Given the description of an element on the screen output the (x, y) to click on. 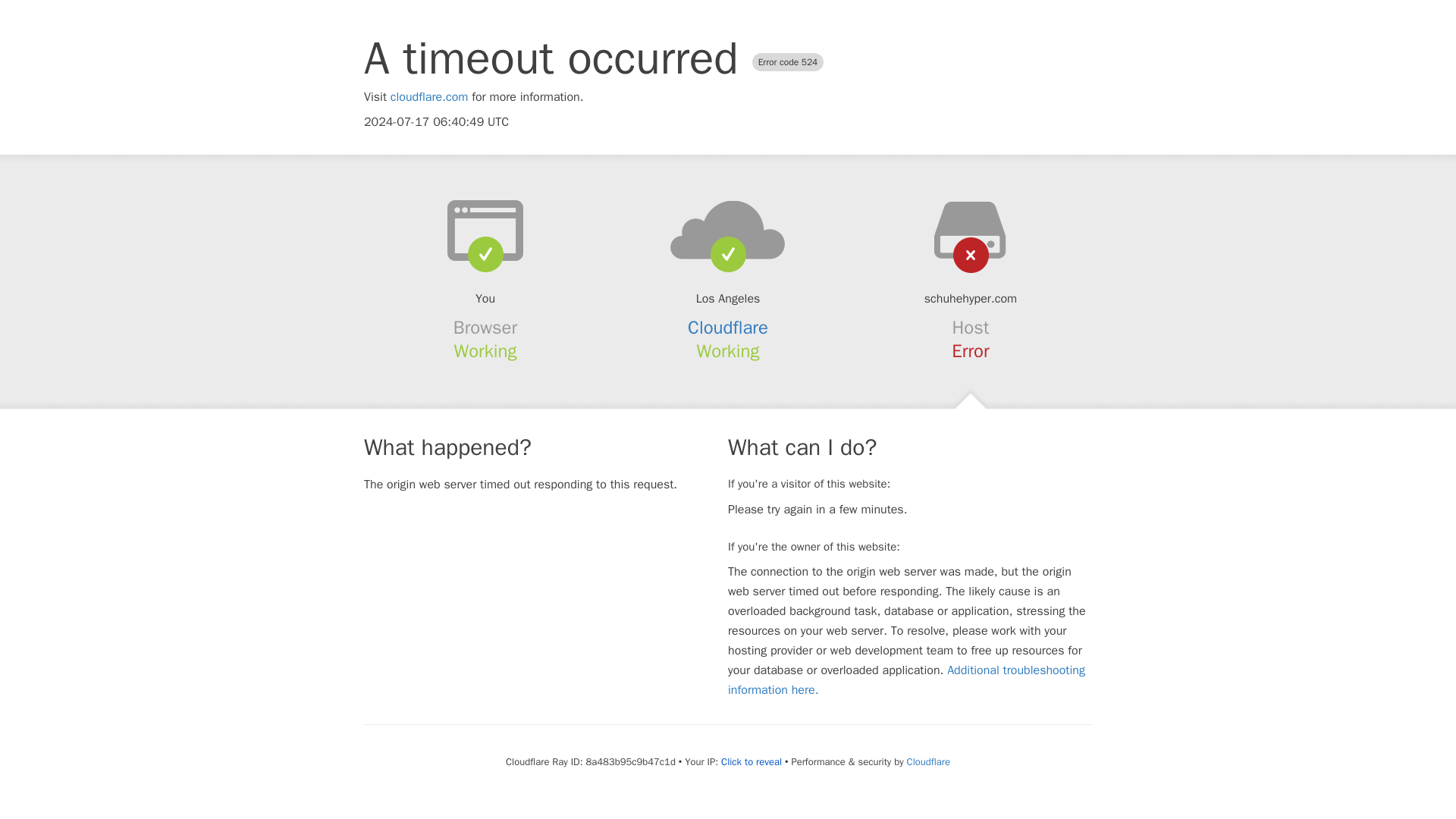
cloudflare.com (429, 96)
Cloudflare (928, 761)
Click to reveal (750, 762)
Cloudflare (727, 327)
Additional troubleshooting information here. (906, 679)
